Given the description of an element on the screen output the (x, y) to click on. 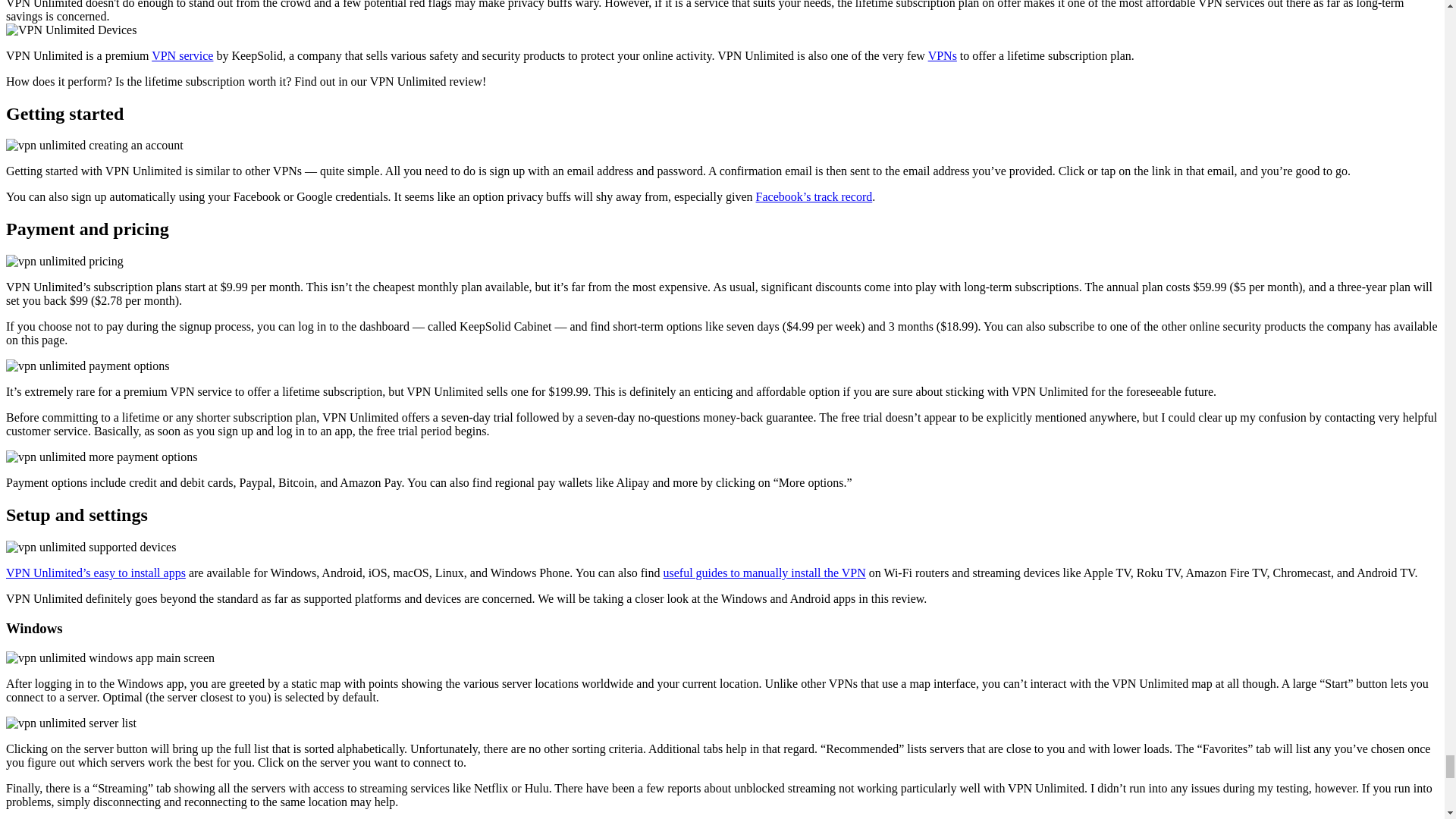
useful guides to manually install the VPN (763, 572)
vpn-unlimited-review-5 (90, 547)
vpn-unlimited-review-6 (109, 658)
vpn-unlimited-review-4 (100, 457)
VPN service (181, 55)
vpn-unlimited-review-2 (87, 366)
VPNs (942, 55)
VPN Unlimited Devices (70, 29)
vpn-unlimited-review-1 (94, 145)
vpn-unlimited-review-3 (64, 261)
